Given the description of an element on the screen output the (x, y) to click on. 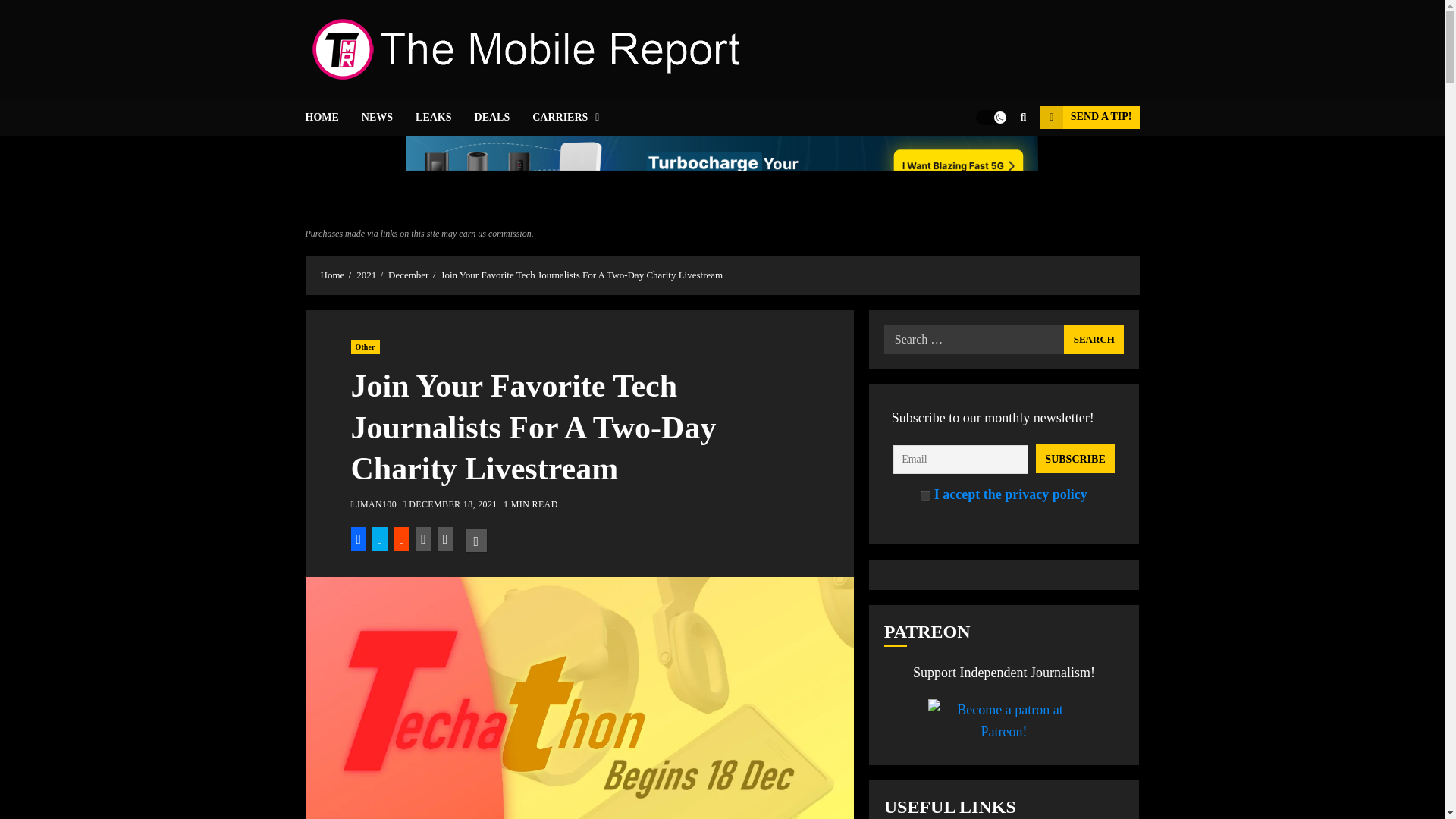
Other (364, 346)
Subscribe (1075, 458)
Search (994, 162)
DEALS (503, 116)
December (408, 275)
CARRIERS (565, 116)
Search (1094, 339)
DECEMBER 18, 2021 (452, 504)
